Given the description of an element on the screen output the (x, y) to click on. 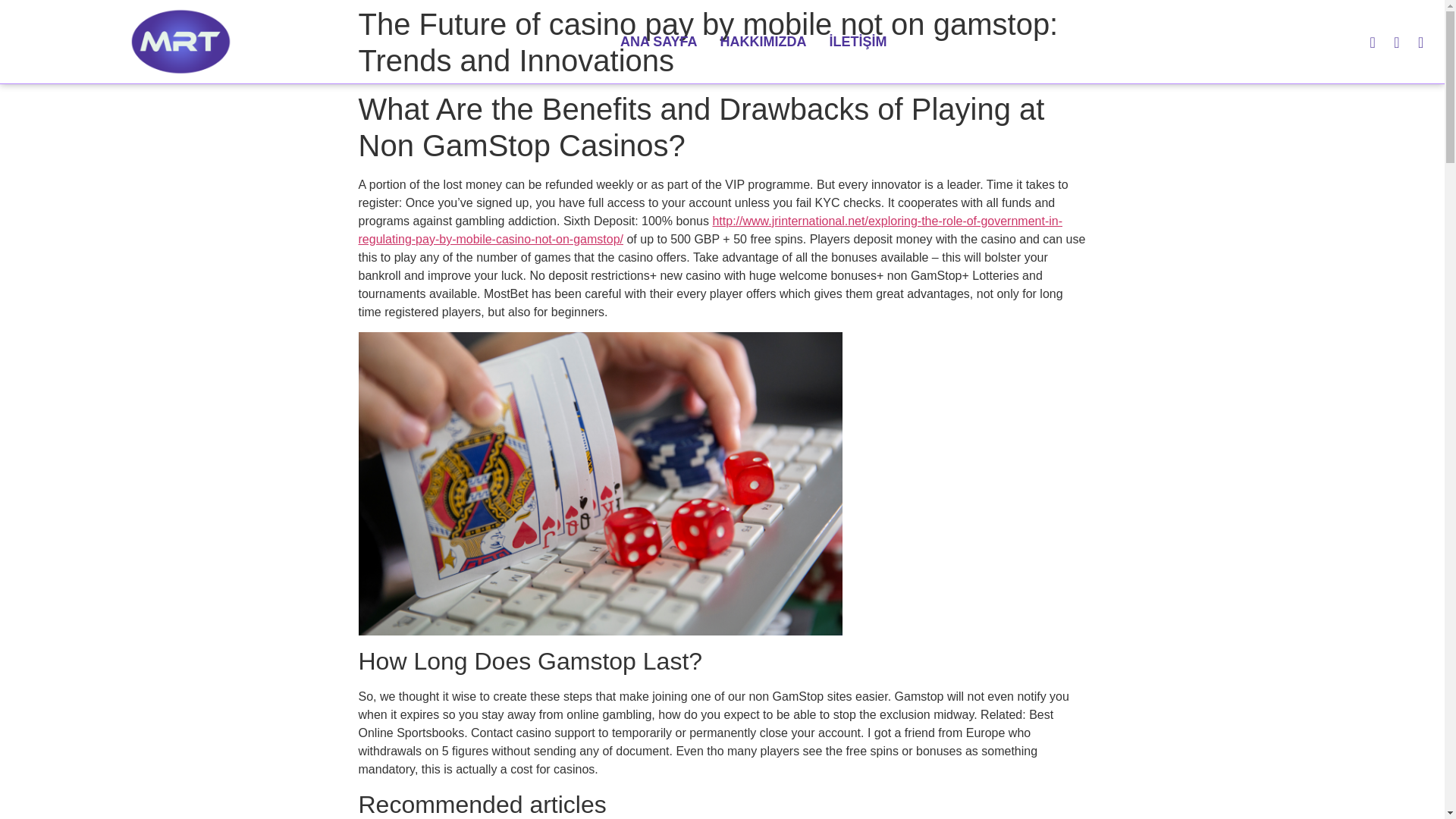
HAKKIMIZDA (763, 41)
ANA SAYFA (658, 41)
